Given the description of an element on the screen output the (x, y) to click on. 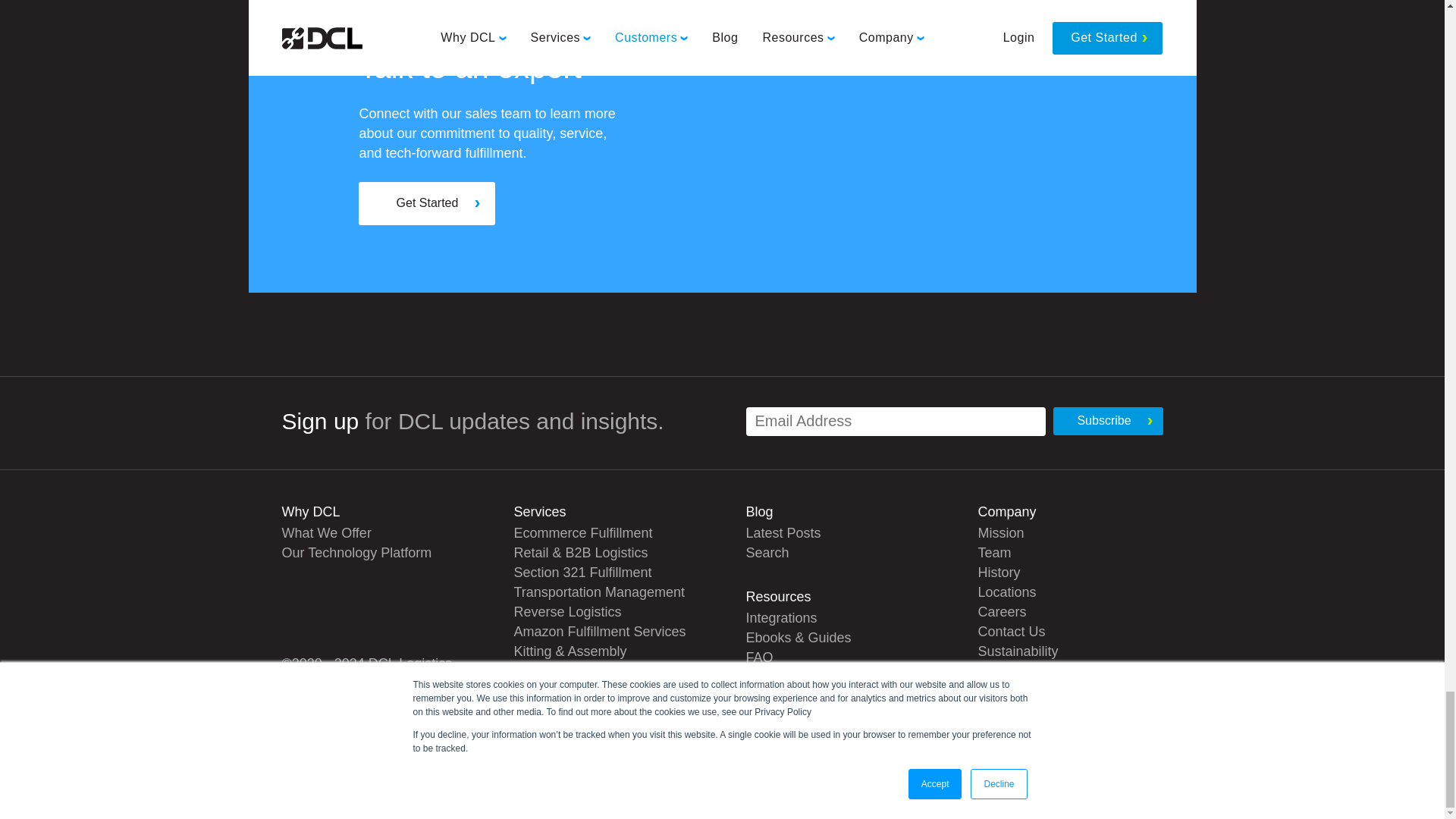
What We Offer (326, 532)
Subscribe (1106, 420)
Transportation Management (598, 591)
Ecommerce Fulfillment (582, 532)
Subscribe (1106, 420)
Our Technology Platform (357, 552)
Amazon Fulfillment Services (599, 631)
Reverse Logistics (567, 611)
Get Started (426, 203)
Section 321 Fulfillment (582, 572)
